Given the description of an element on the screen output the (x, y) to click on. 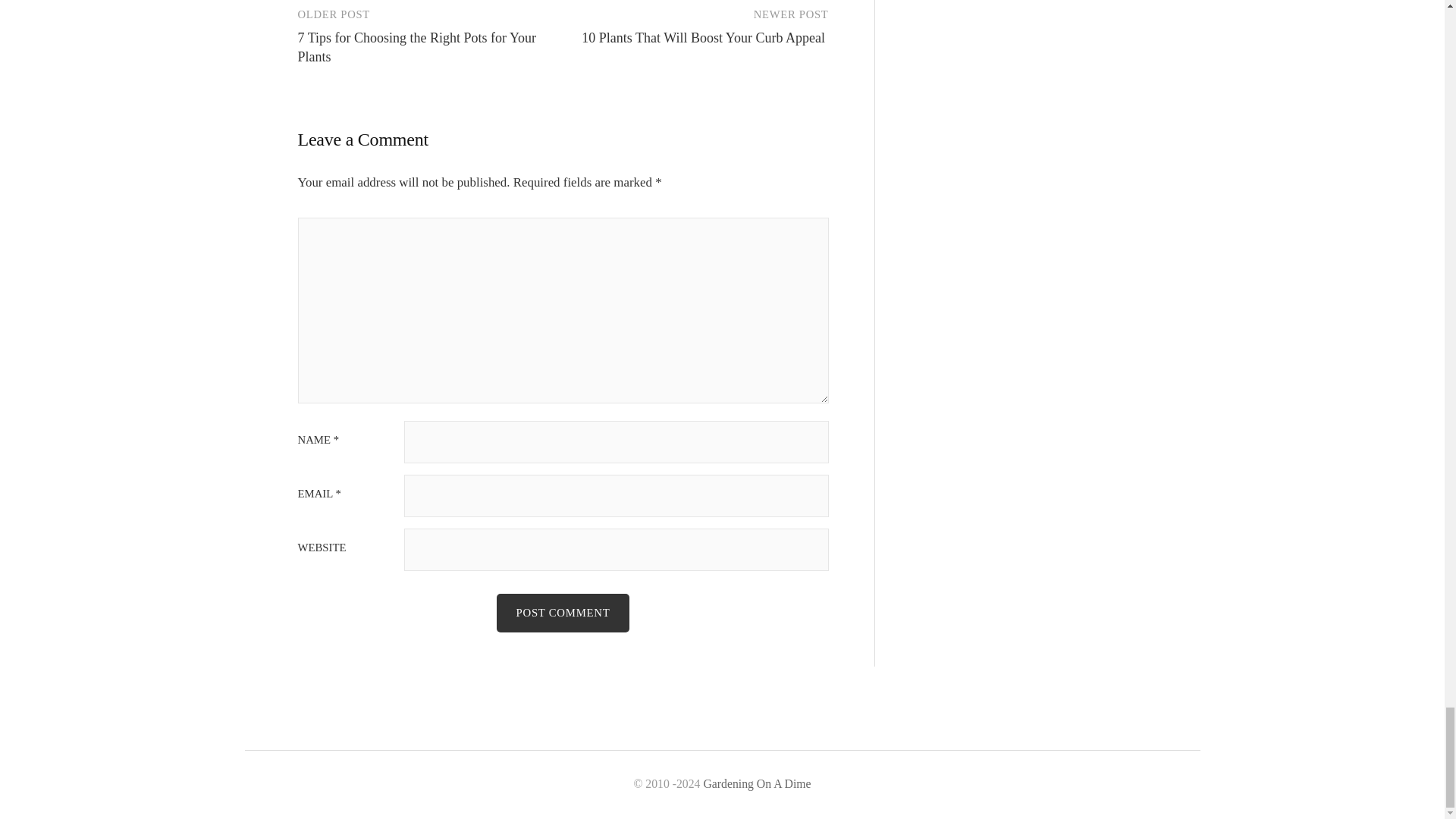
Post Comment (562, 612)
7 Tips for Choosing the Right Pots for Your Plants (416, 47)
Post Comment (562, 612)
10 Plants That Will Boost Your Curb Appeal  (704, 37)
